Given the description of an element on the screen output the (x, y) to click on. 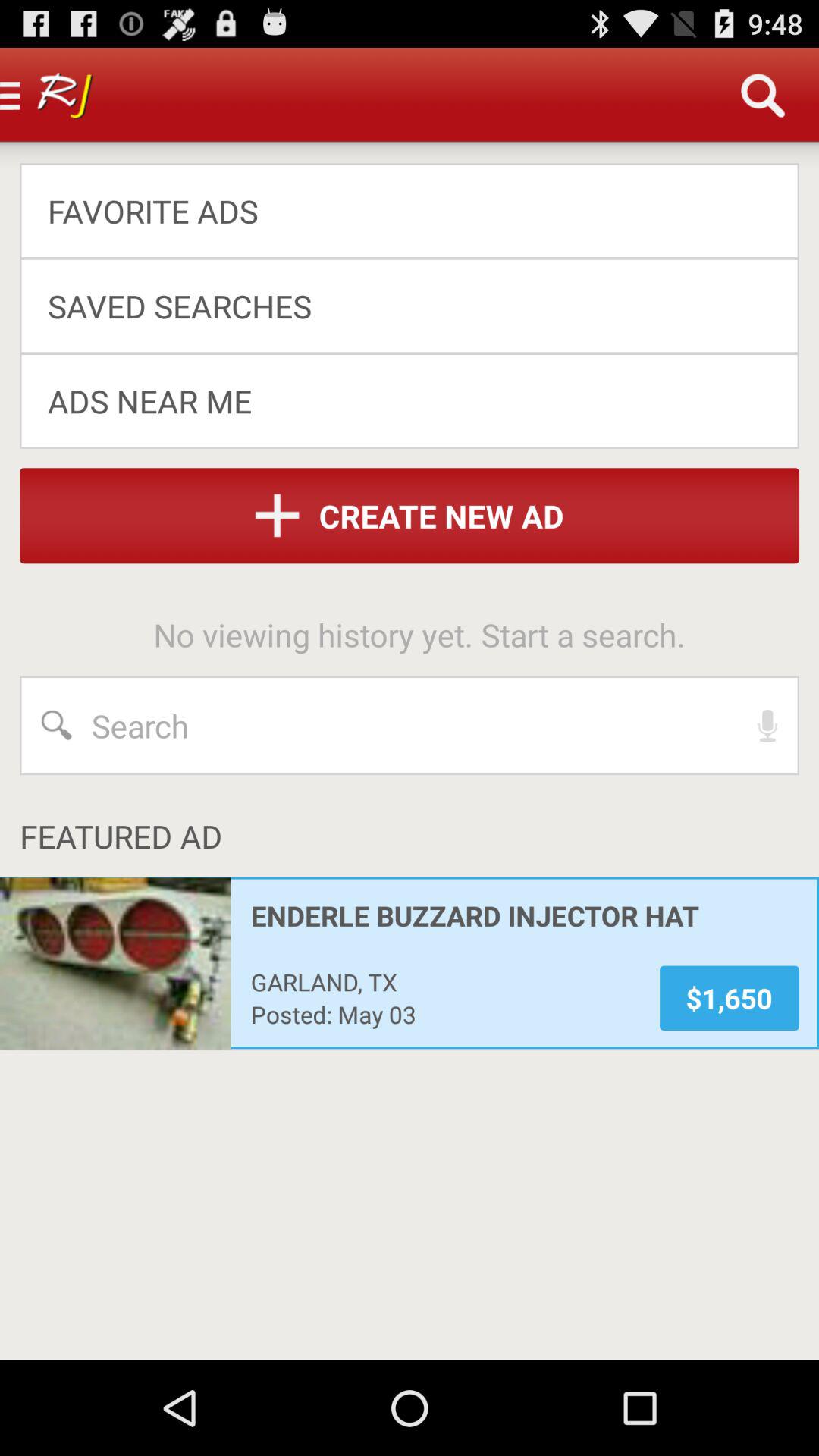
select the favorite ads app (399, 210)
